Given the description of an element on the screen output the (x, y) to click on. 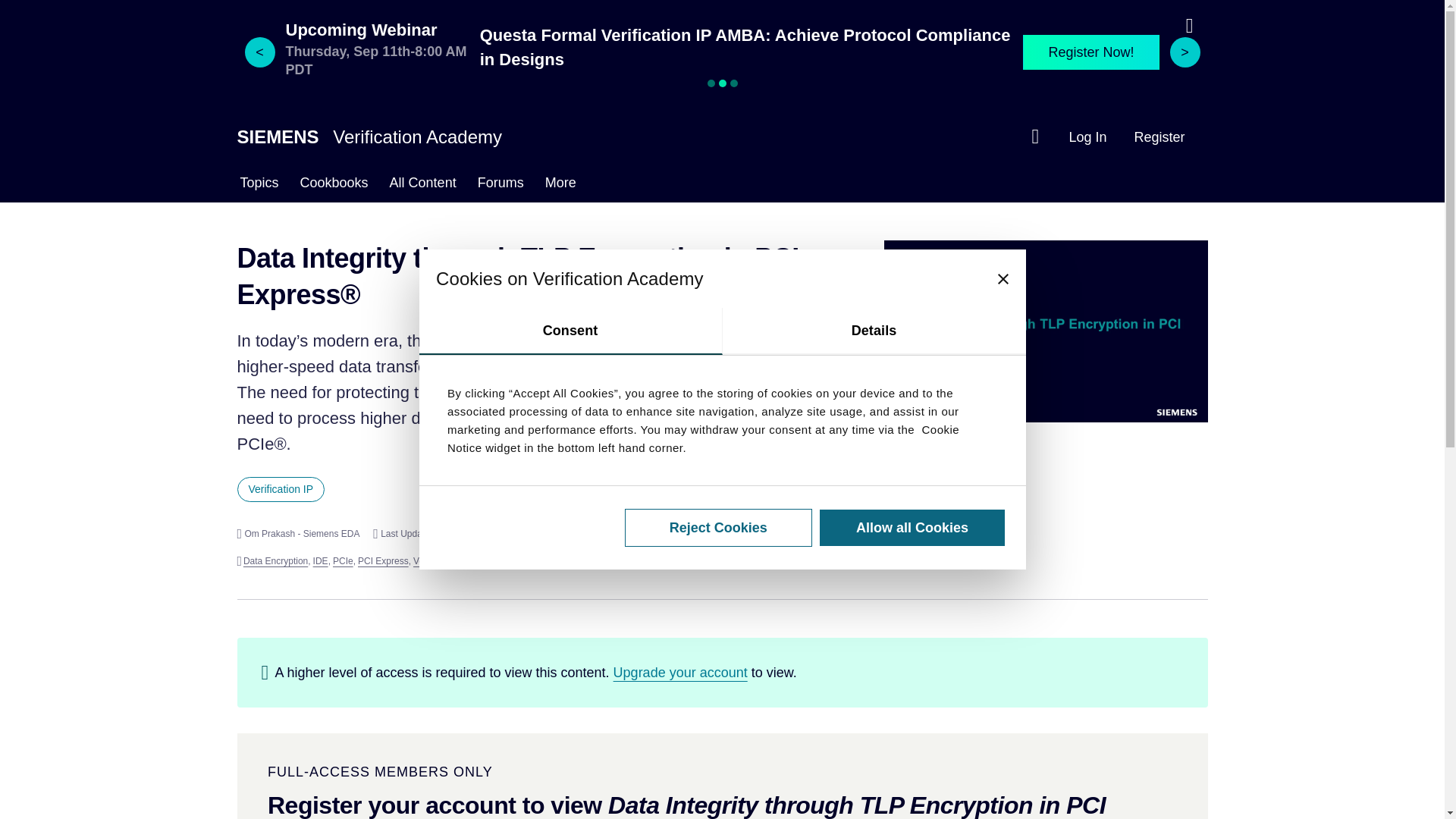
Details (873, 330)
Consent (570, 330)
December 1st, 2022 6:51:00 AM (424, 533)
Go to topic page (279, 489)
